Given the description of an element on the screen output the (x, y) to click on. 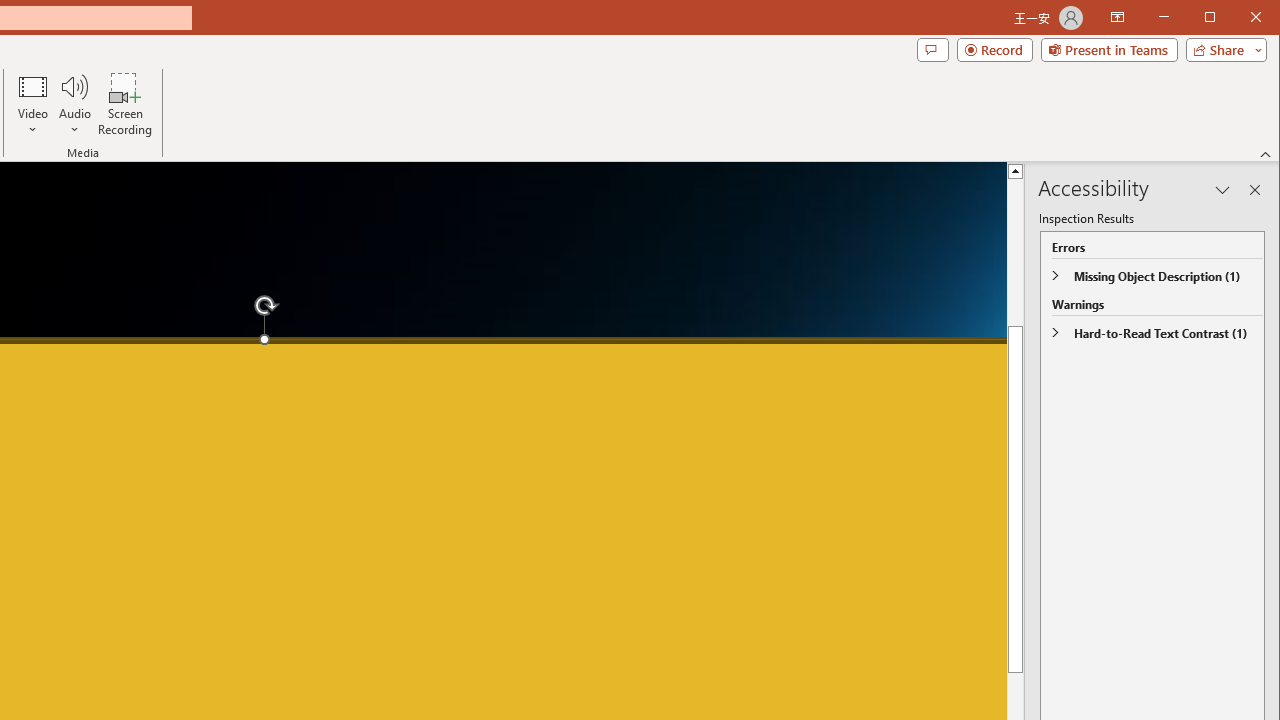
Audio (74, 104)
Video (32, 104)
